Given the description of an element on the screen output the (x, y) to click on. 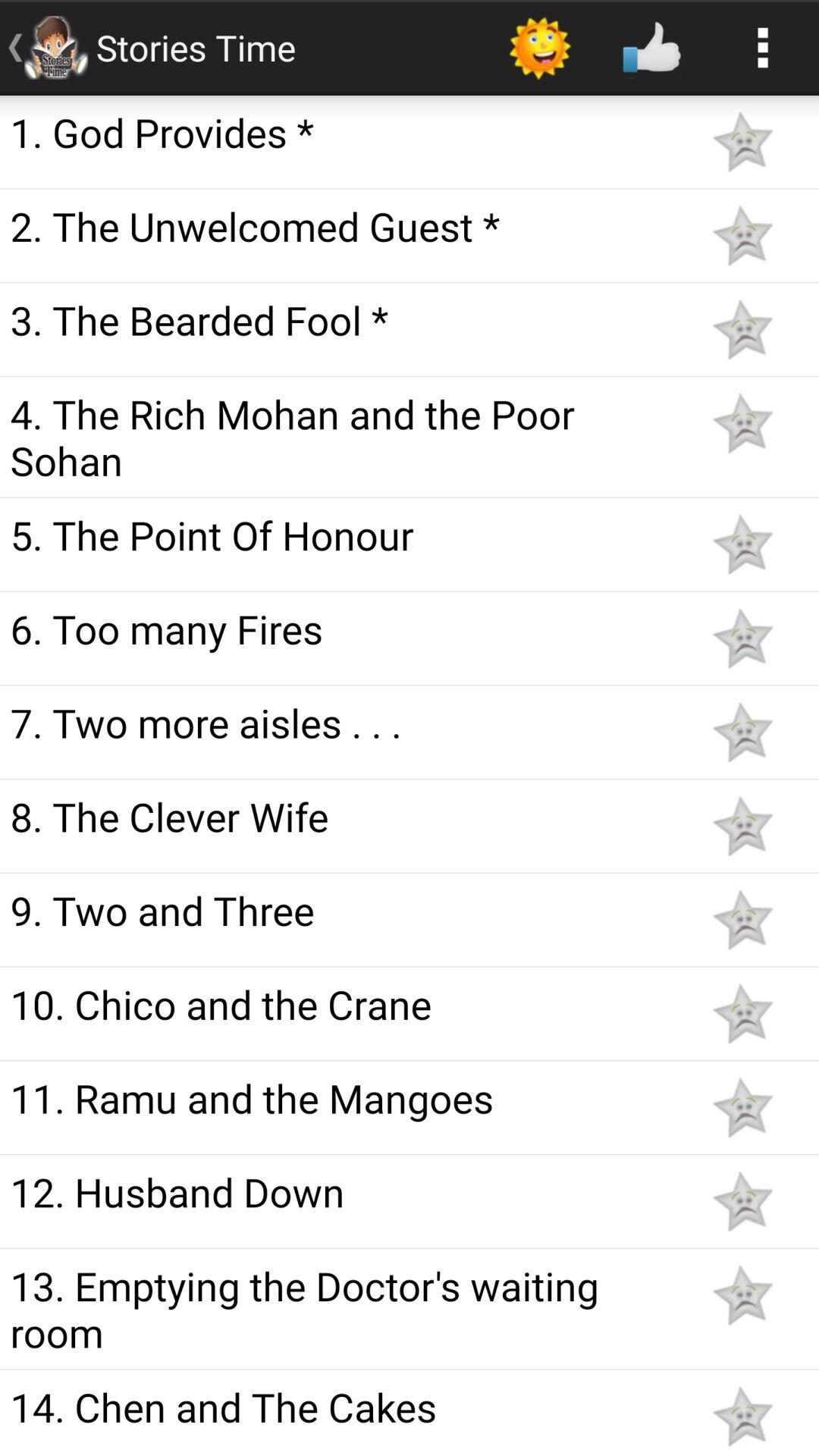
add to favorites (742, 1295)
